Given the description of an element on the screen output the (x, y) to click on. 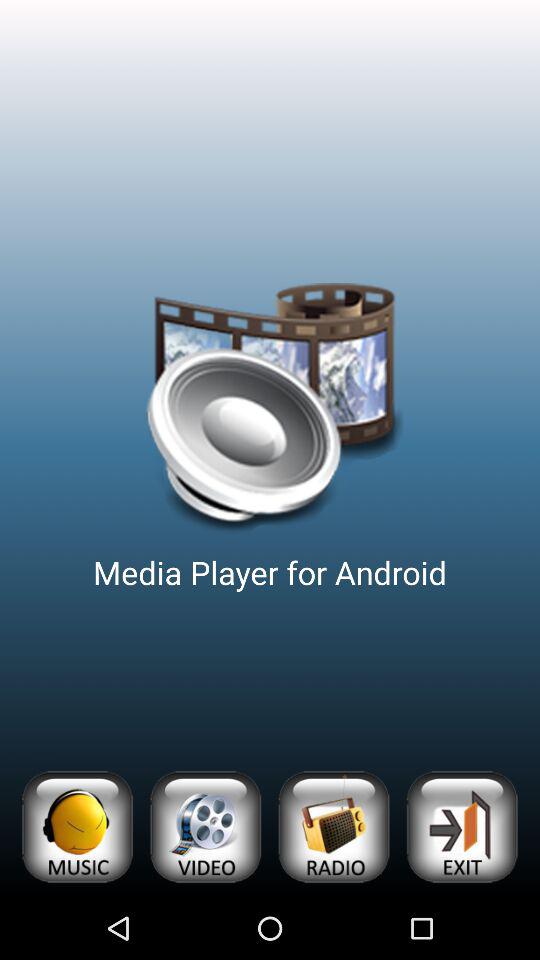
open music category (76, 826)
